Given the description of an element on the screen output the (x, y) to click on. 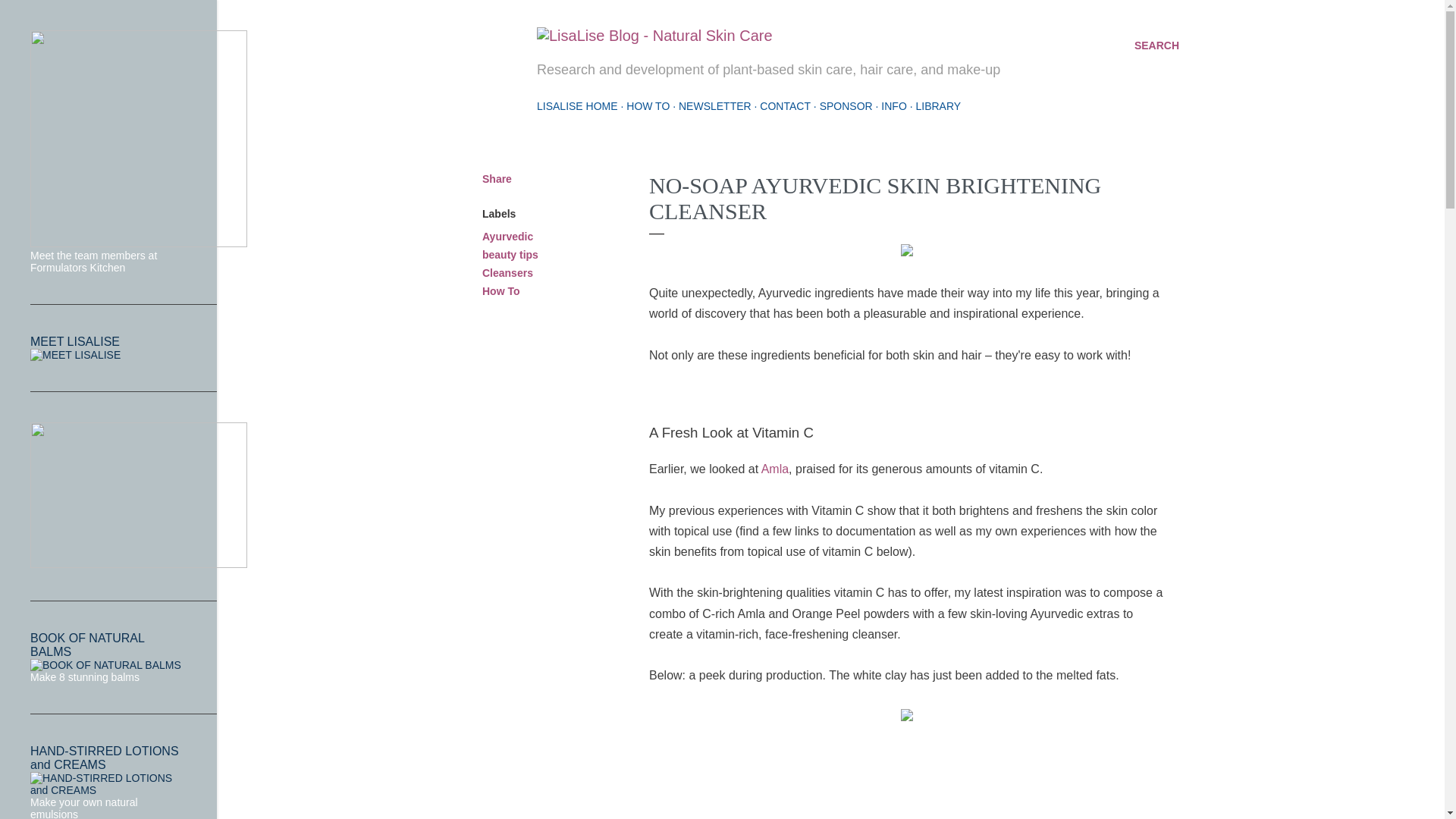
INFO (892, 105)
Ayurvedic (506, 236)
Cleansers (506, 272)
Amla (775, 468)
NEWSLETTER (714, 105)
HOW TO (647, 105)
CONTACT (785, 105)
LIBRARY (937, 105)
LISALISE HOME (577, 105)
Share (496, 178)
SPONSOR (845, 105)
SEARCH (1156, 45)
How To (500, 291)
beauty tips (509, 254)
